Given the description of an element on the screen output the (x, y) to click on. 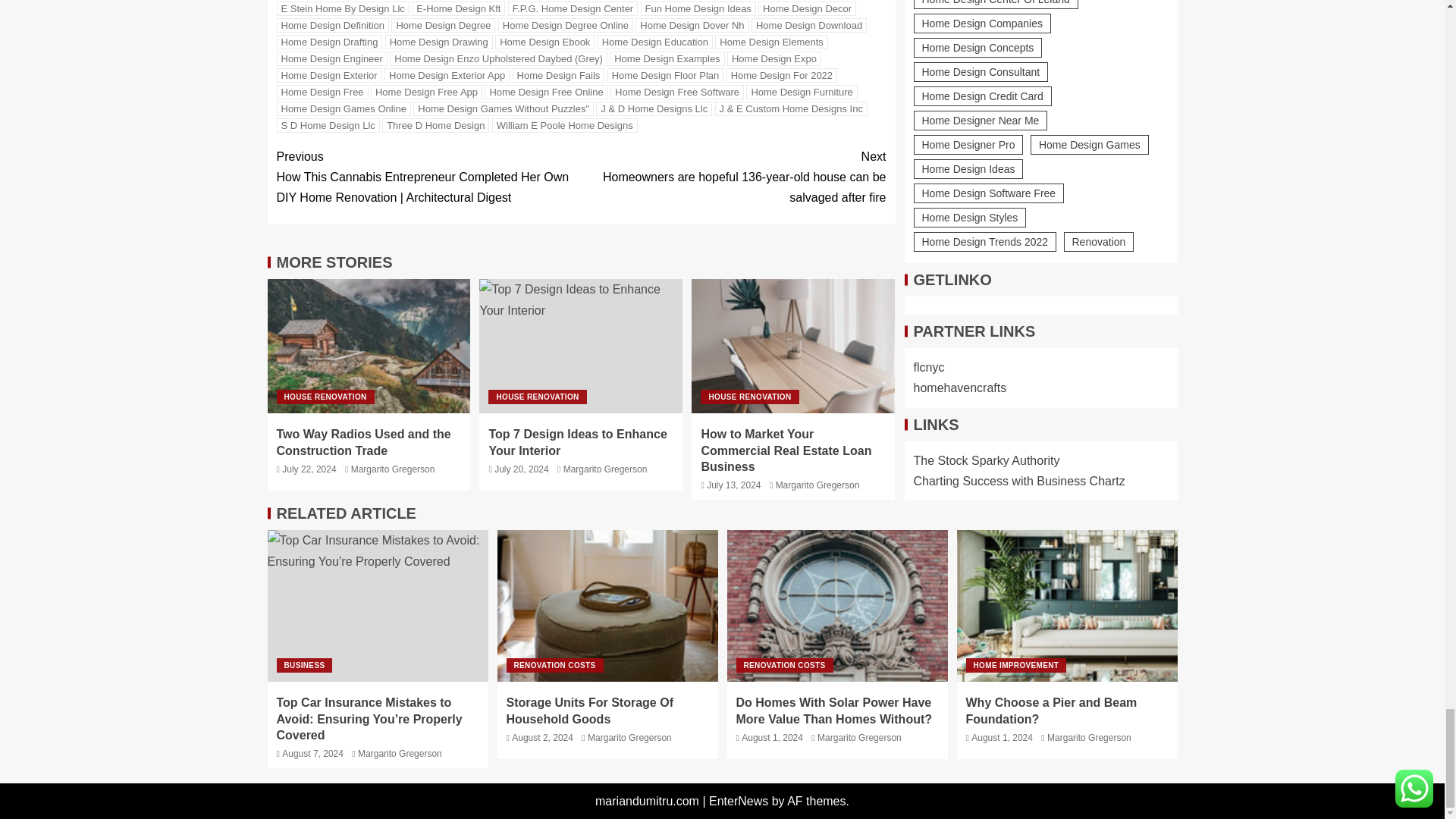
How to Market Your Commercial Real Estate Loan Business (793, 346)
Two Way Radios Used and the Construction Trade (368, 346)
Top 7 Design Ideas to Enhance Your Interior (580, 346)
